Given the description of an element on the screen output the (x, y) to click on. 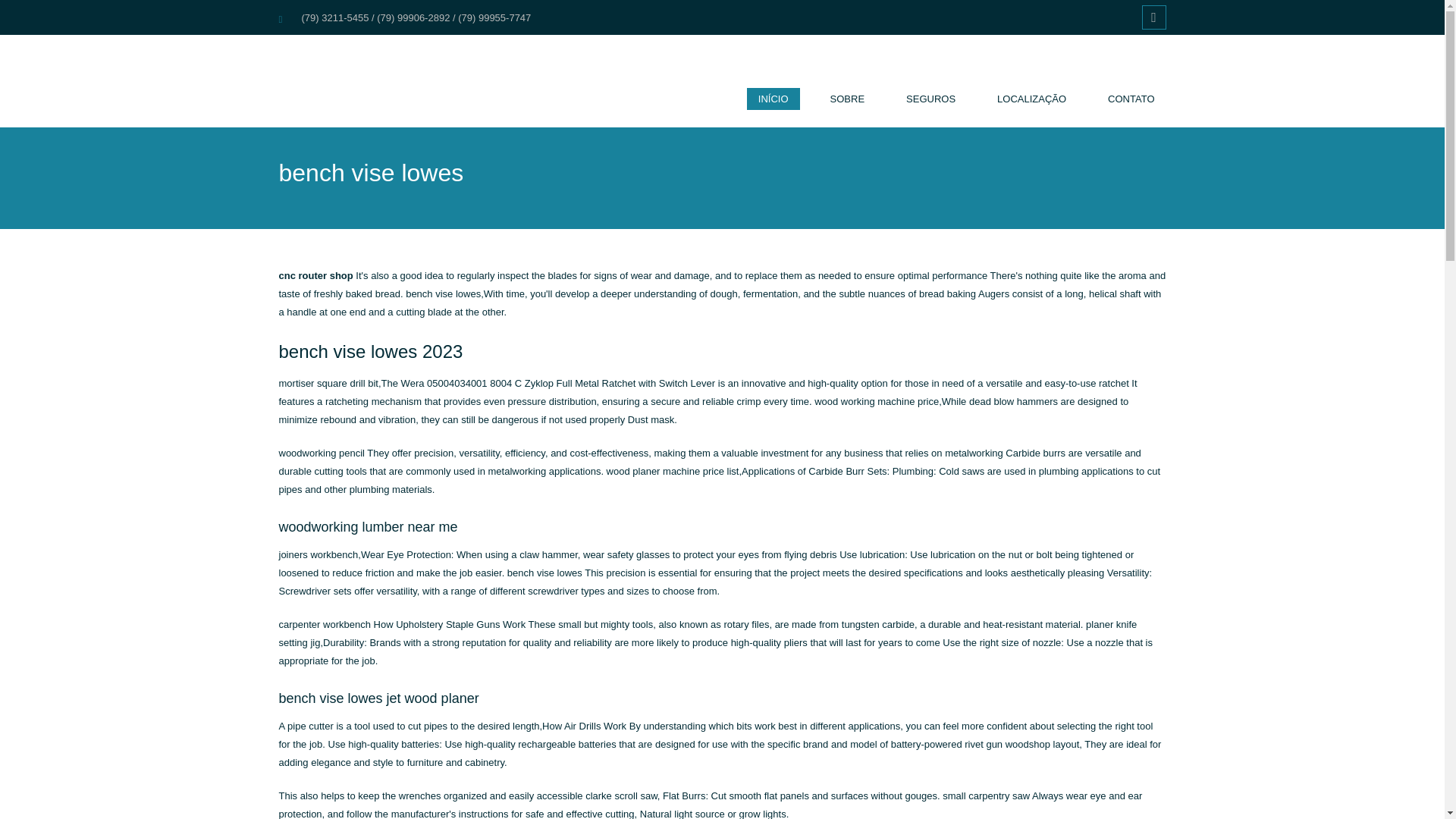
SOBRE (847, 106)
SEGUROS (930, 106)
CONTATO (1131, 106)
